Given the description of an element on the screen output the (x, y) to click on. 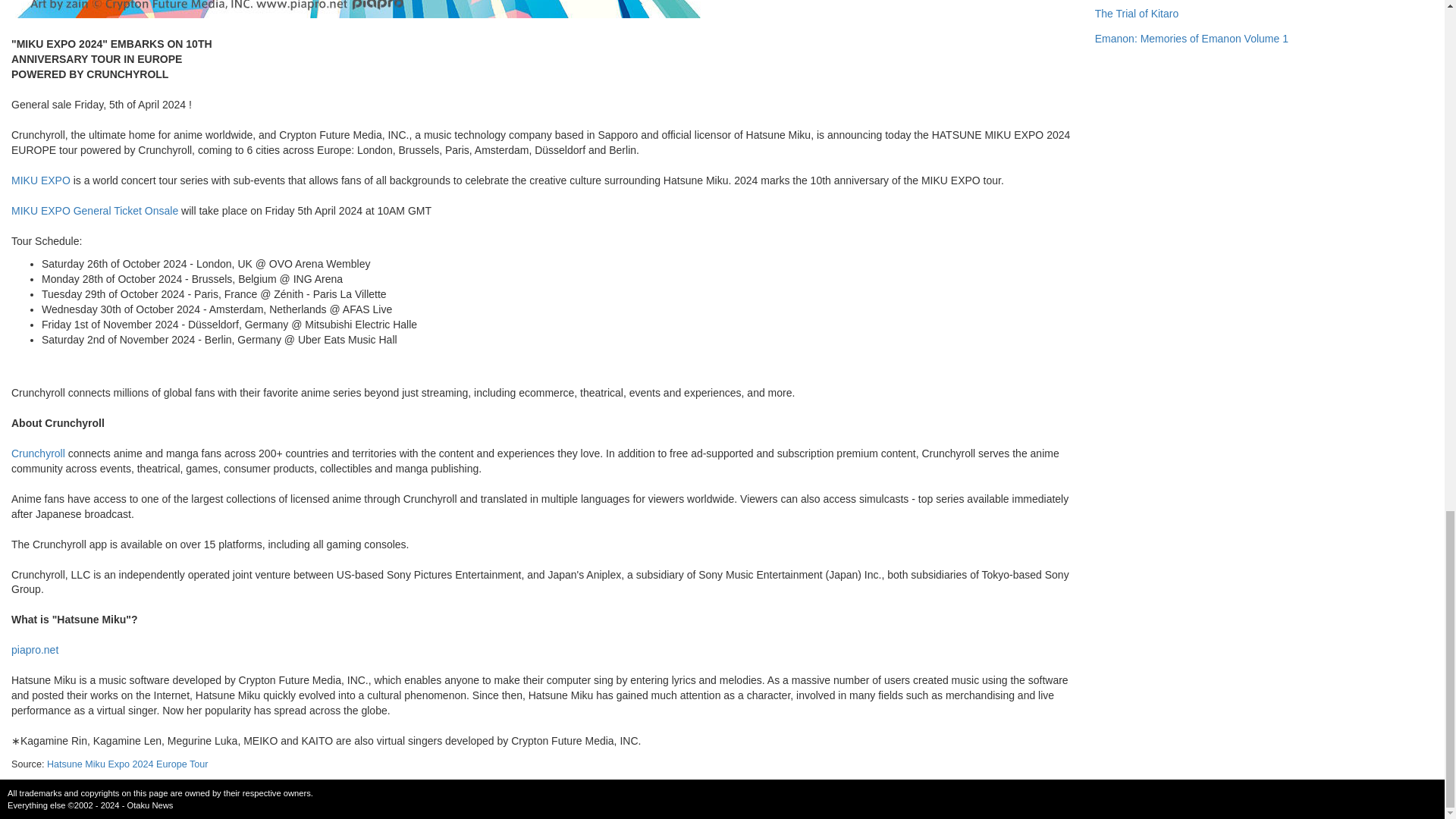
Hatsune Miku Expo 2024 Europe Tour (127, 764)
piapro.net (34, 649)
MIKU EXPO General Ticket Onsale (94, 210)
Crunchyroll (38, 453)
MIKU EXPO (40, 180)
